Given the description of an element on the screen output the (x, y) to click on. 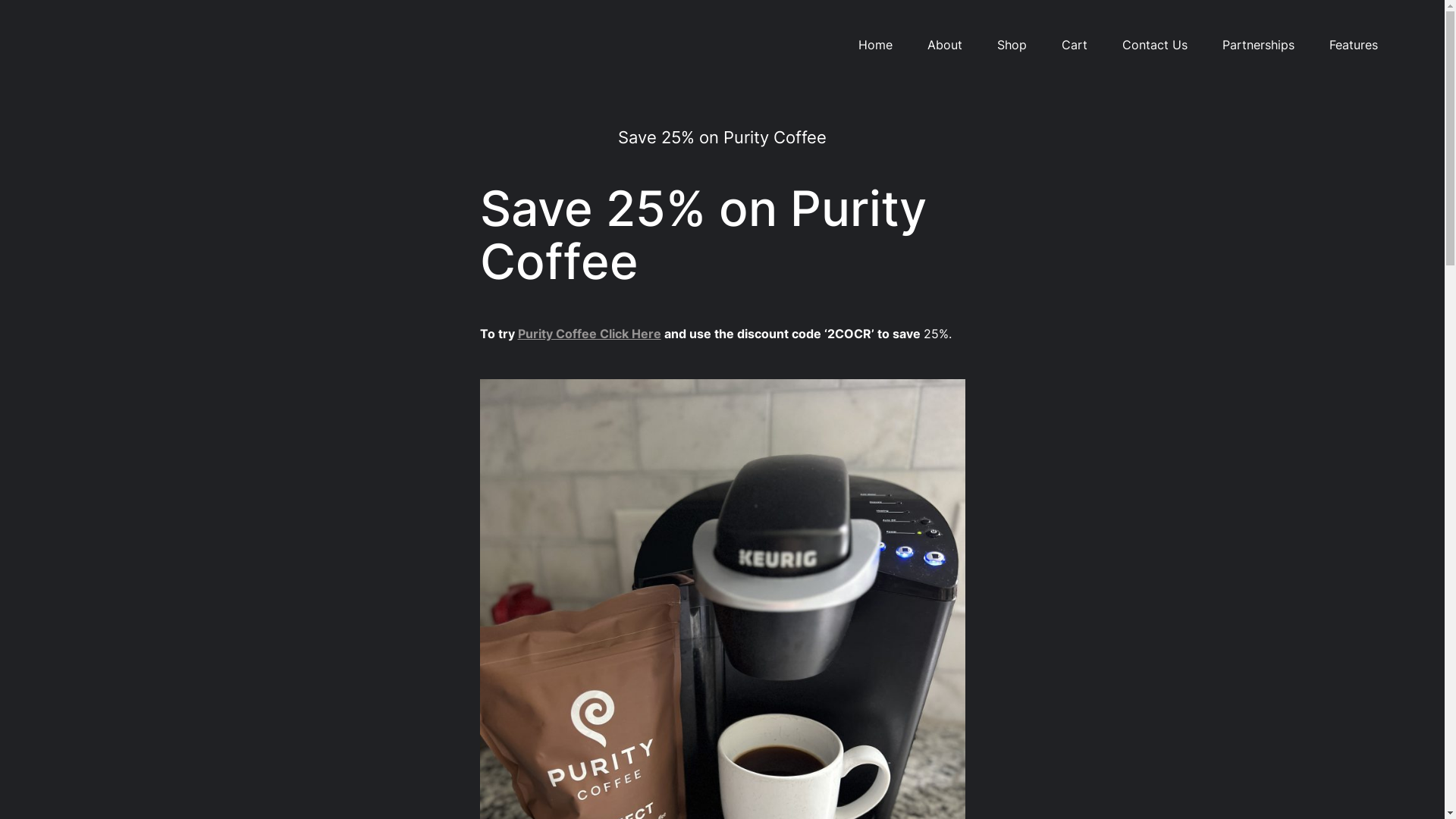
Partnerships Element type: text (1258, 44)
Features Element type: text (1352, 44)
Home Element type: text (875, 44)
Shop Element type: text (1011, 44)
Contact Us Element type: text (1154, 44)
About Element type: text (943, 44)
Cart Element type: text (1074, 44)
Purity Coffee Click Here Element type: text (588, 333)
